Given the description of an element on the screen output the (x, y) to click on. 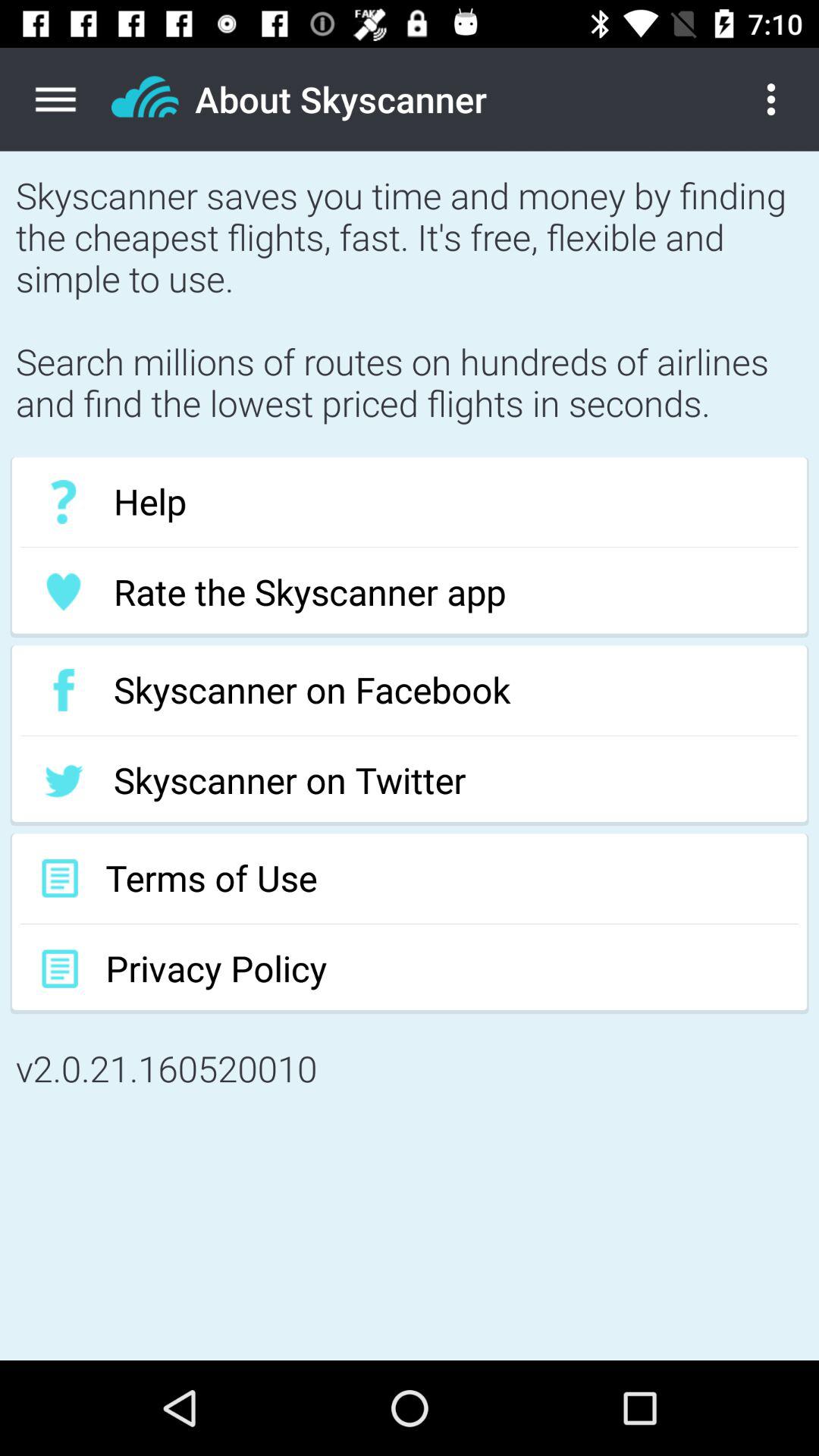
swipe to the help (409, 502)
